Given the description of an element on the screen output the (x, y) to click on. 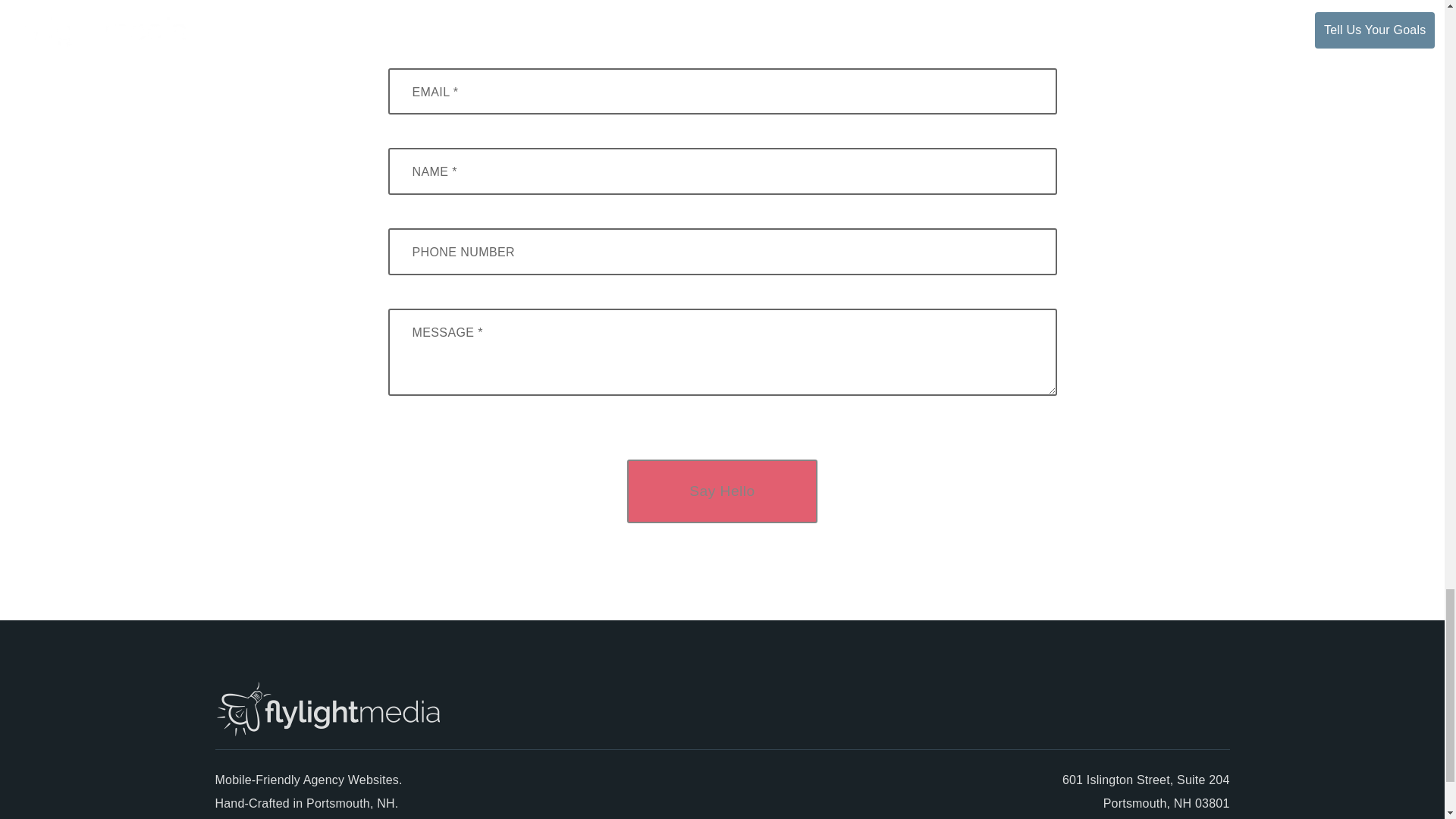
Say Hello (721, 491)
Say Hello (721, 491)
